Given the description of an element on the screen output the (x, y) to click on. 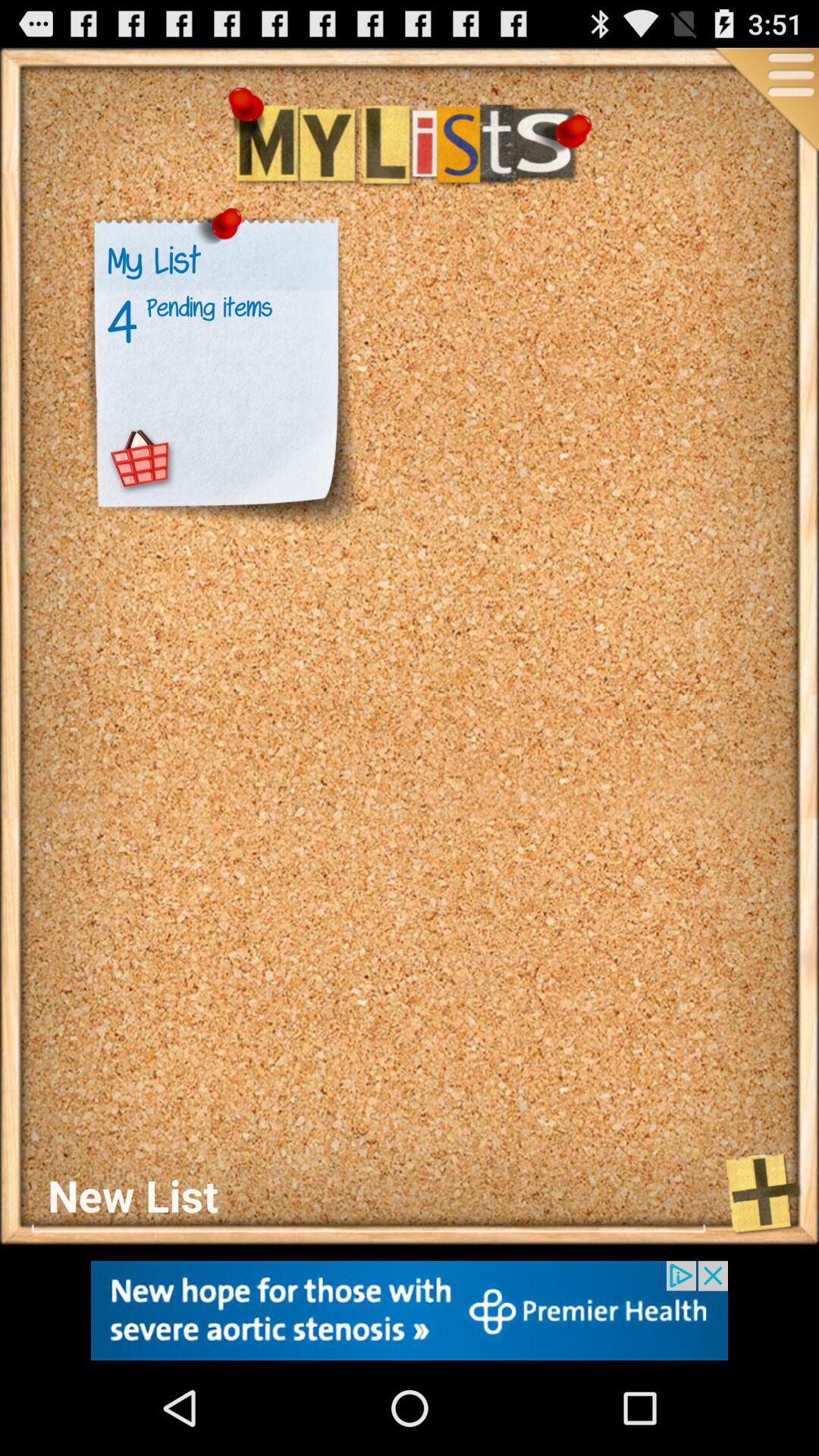
features (765, 101)
